Given the description of an element on the screen output the (x, y) to click on. 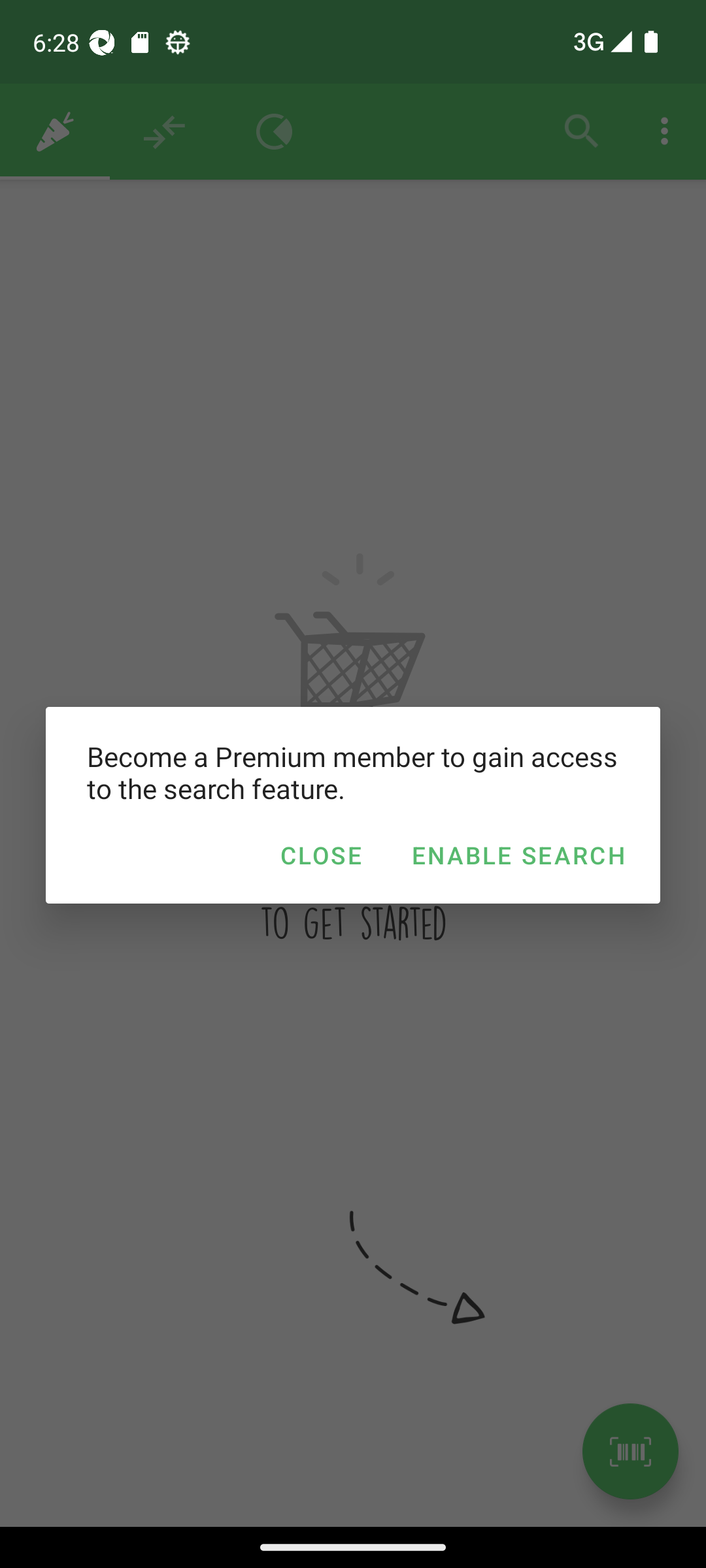
CLOSE (320, 854)
ENABLE SEARCH (517, 854)
